Given the description of an element on the screen output the (x, y) to click on. 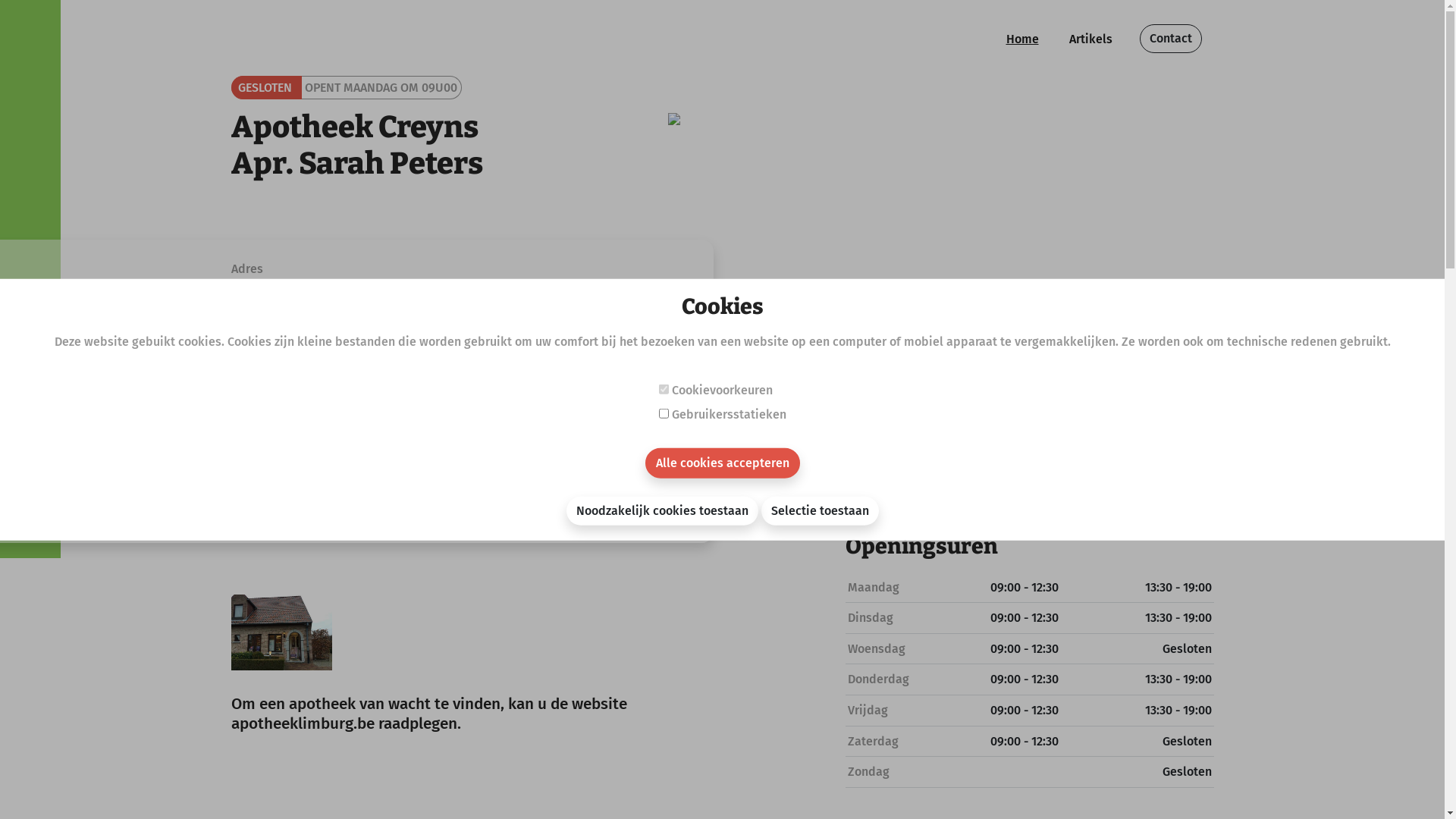
Home Element type: text (1021, 39)
Artikels Element type: text (1090, 39)
Noodzakelijk cookies toestaan Element type: text (661, 509)
Alle cookies accepteren Element type: text (721, 462)
creyns Element type: text (268, 476)
Routebeschrijving Element type: text (295, 330)
apotheekcreyns@hotmail.com Element type: text (354, 445)
Contact Element type: text (1170, 38)
Selectie toestaan Element type: text (819, 509)
